Given the description of an element on the screen output the (x, y) to click on. 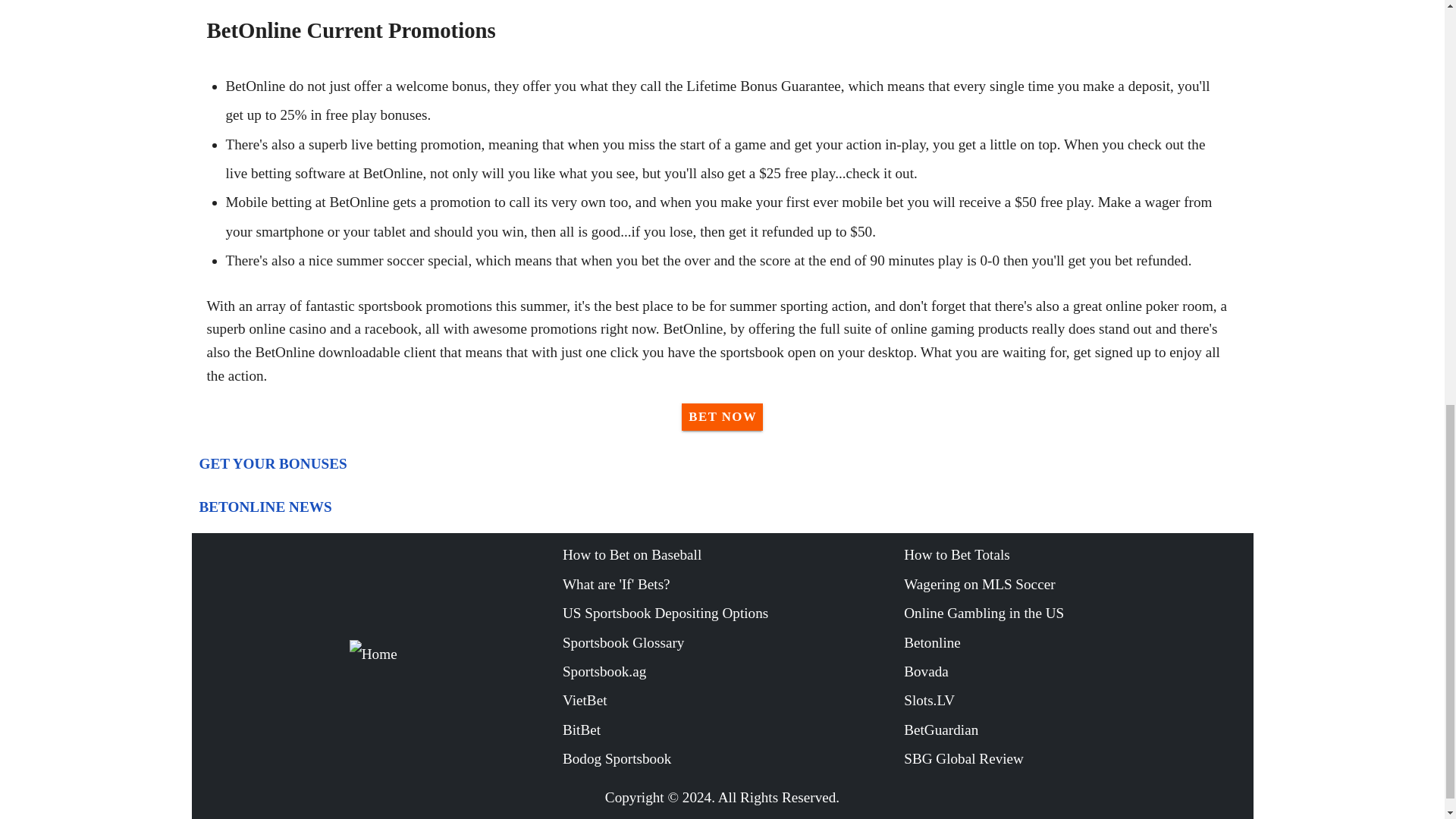
US Sportsbook Depositing Options (733, 613)
Sportsbook.ag (733, 671)
SBG Global Review (1074, 758)
BET NOW (721, 416)
Bodog Sportsbook (733, 758)
What are 'If' Bets? (733, 584)
Slots.LV (1074, 700)
Sportsbook Glossary (733, 642)
BetGuardian (1074, 729)
How to Bet on Baseball (733, 554)
